Given the description of an element on the screen output the (x, y) to click on. 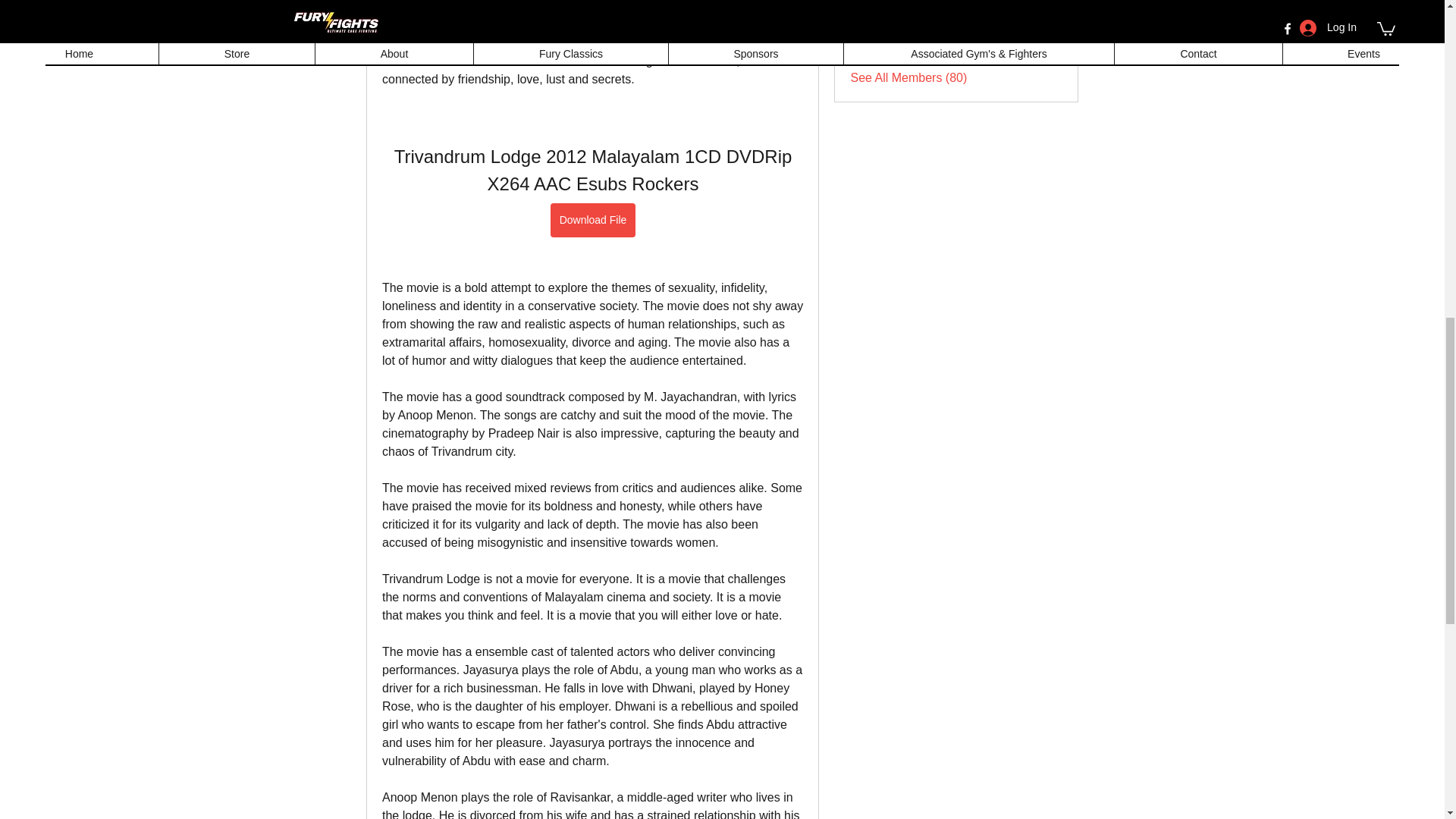
weswinnefred6666 (936, 4)
Download File (592, 220)
Follow (1044, 6)
vicecrufoli (863, 40)
Follow (1044, 40)
vicecrufoli (913, 38)
weswinnefred6666 (863, 9)
